Given the description of an element on the screen output the (x, y) to click on. 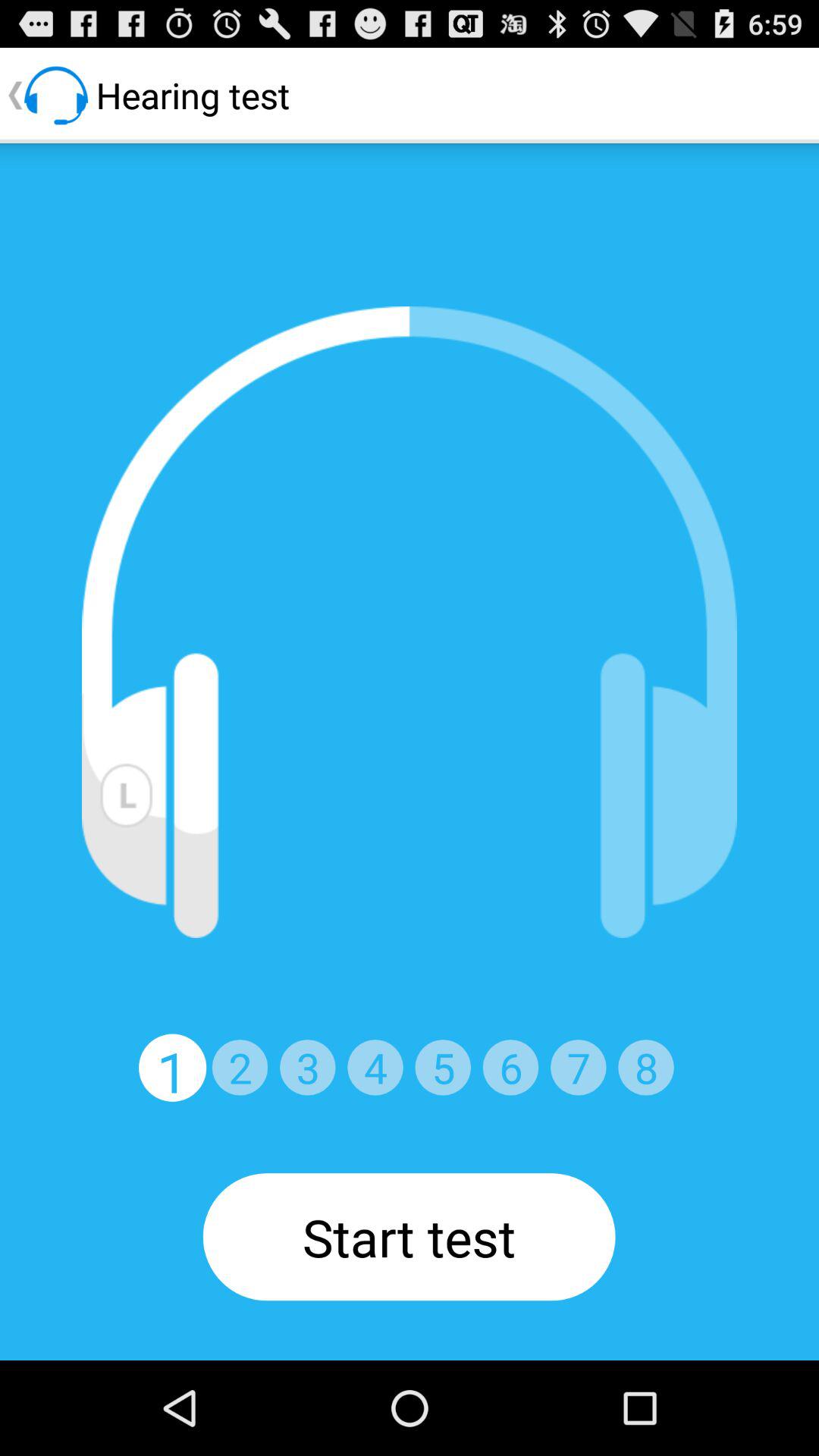
launch start test button (409, 1236)
